Given the description of an element on the screen output the (x, y) to click on. 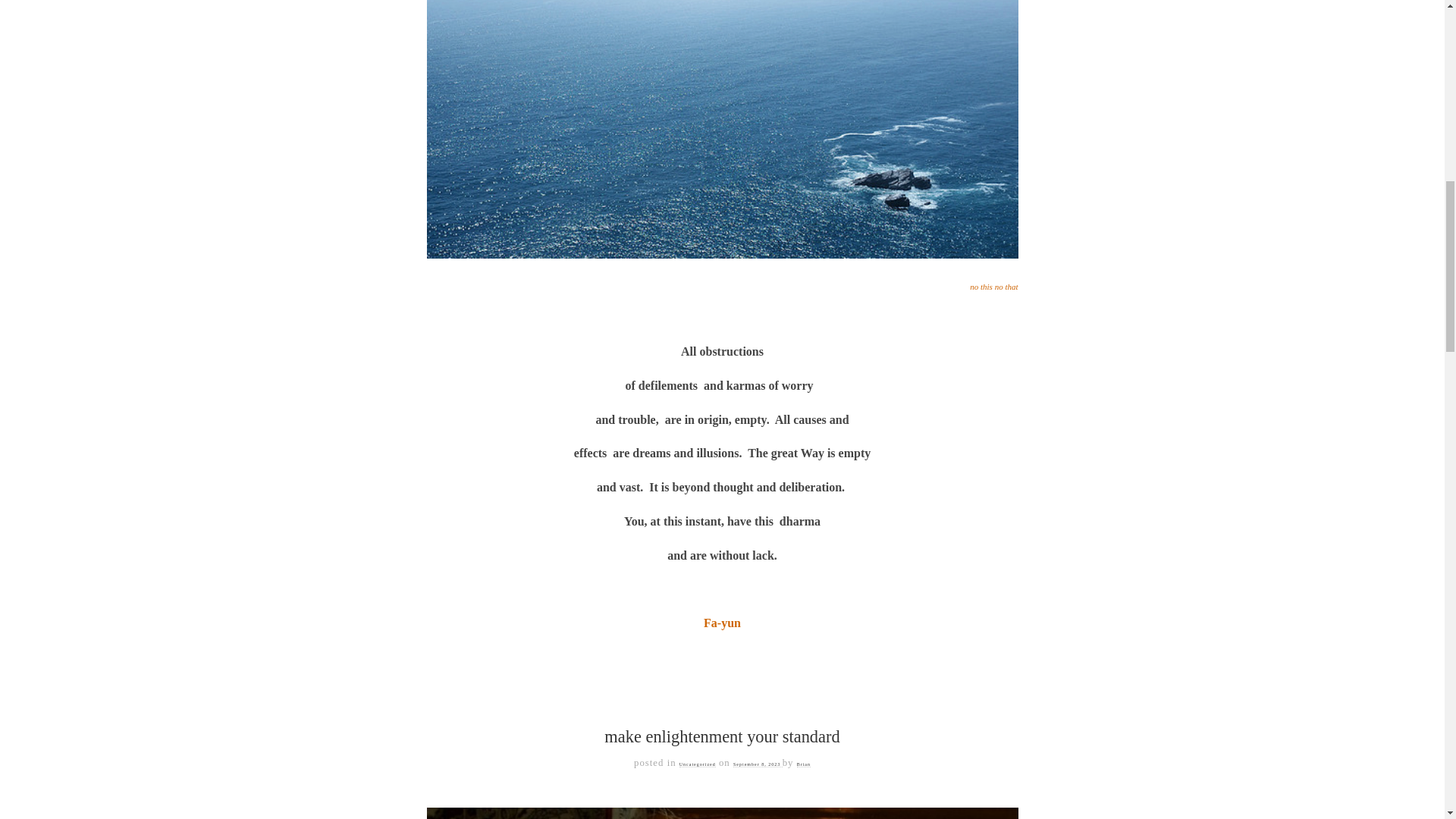
11:38 am (758, 764)
September 8, 2023 (758, 764)
make enlightenment your standard (722, 736)
Fa-yun (722, 622)
Brian (803, 764)
Uncategorized (697, 764)
View all posts by  (803, 764)
no this no that (993, 286)
